Given the description of an element on the screen output the (x, y) to click on. 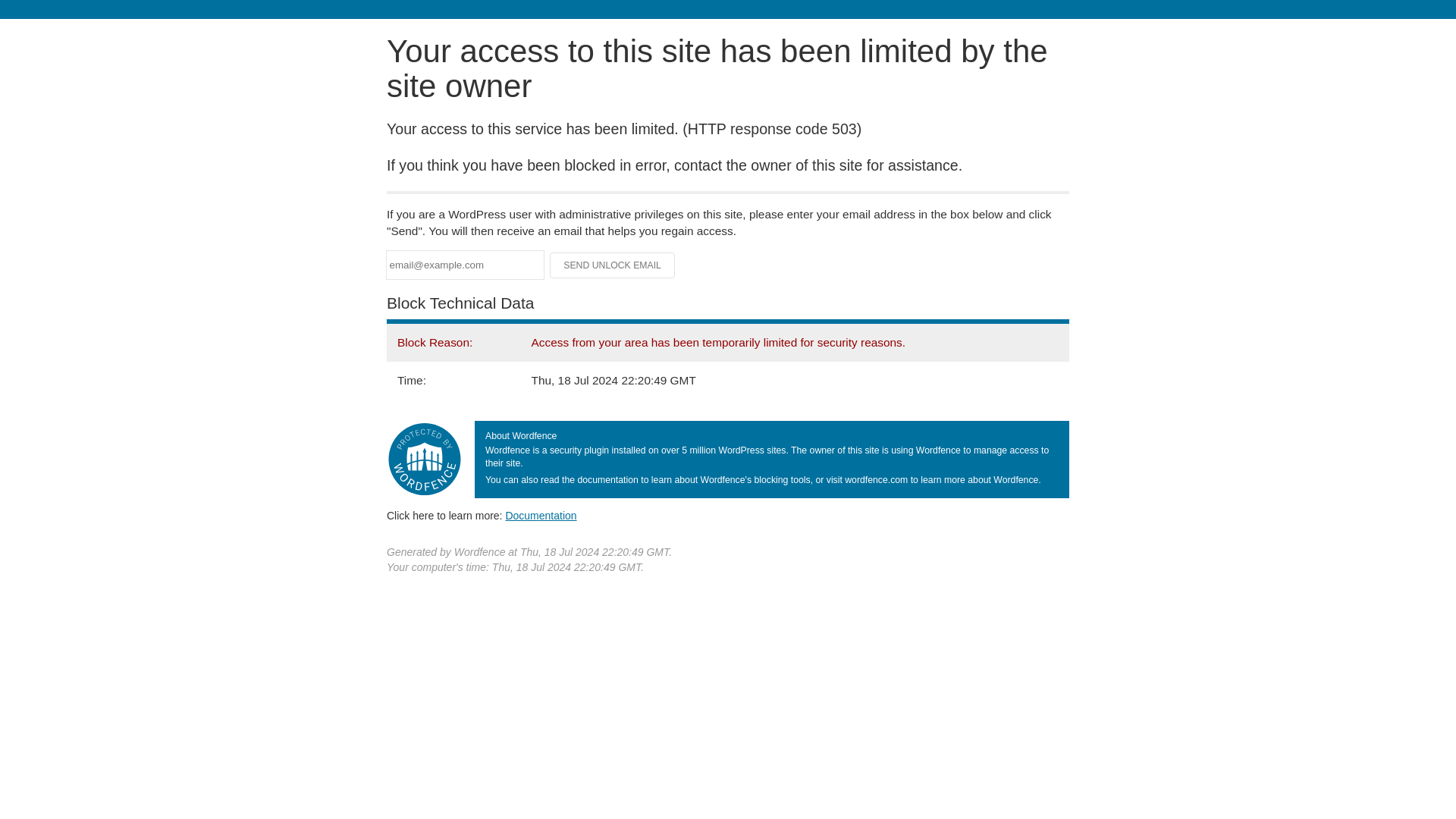
Send Unlock Email (612, 265)
Send Unlock Email (612, 265)
Documentation (540, 515)
